Given the description of an element on the screen output the (x, y) to click on. 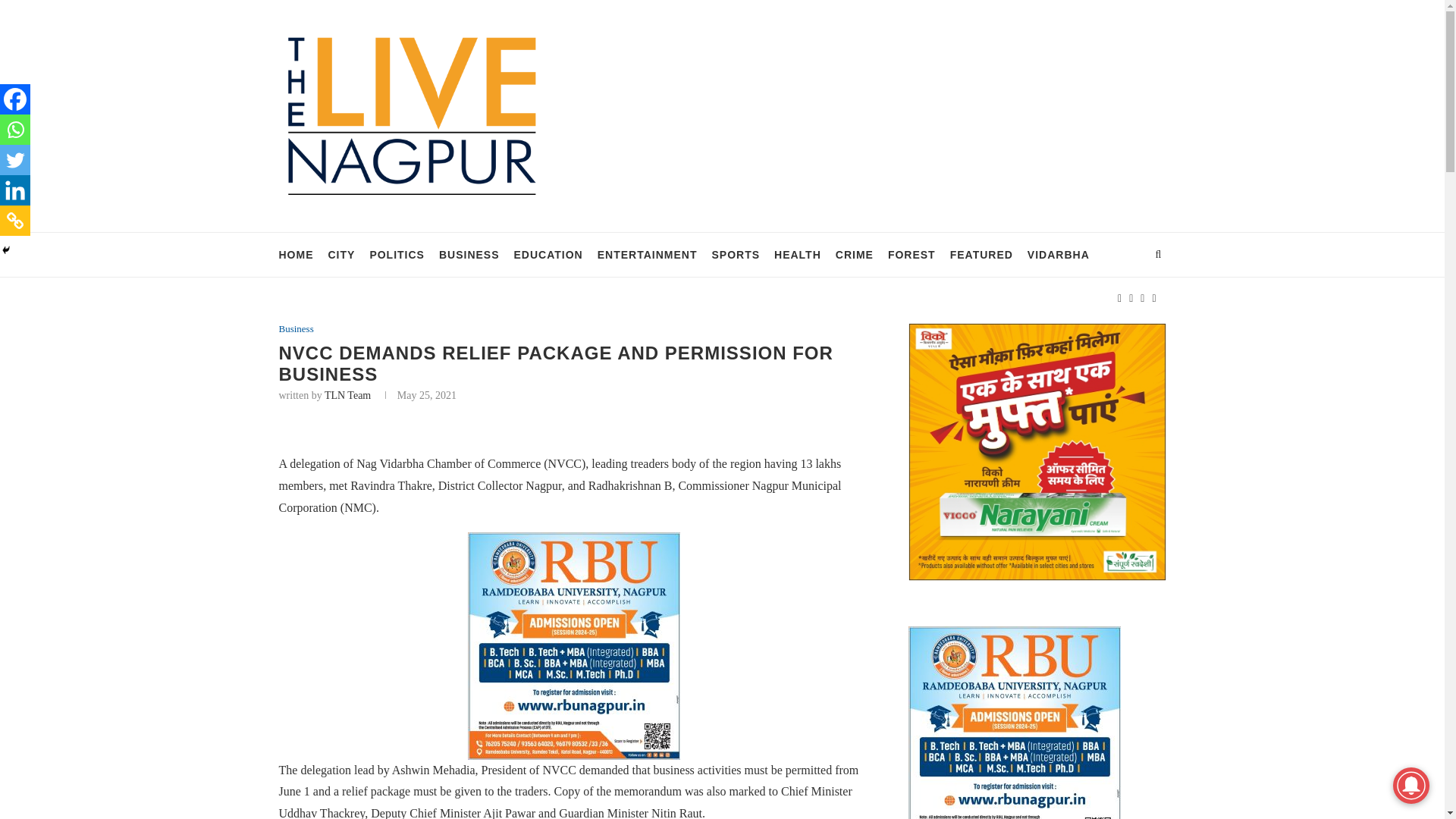
HEALTH (797, 254)
Linkedin (15, 190)
BUSINESS (469, 254)
Twitter (15, 159)
EDUCATION (548, 254)
POLITICS (397, 254)
Business (296, 328)
Copy Link (15, 220)
FOREST (912, 254)
SPORTS (735, 254)
ENTERTAINMENT (646, 254)
Facebook (15, 99)
FEATURED (981, 254)
Whatsapp (15, 129)
VIDARBHA (1058, 254)
